Given the description of an element on the screen output the (x, y) to click on. 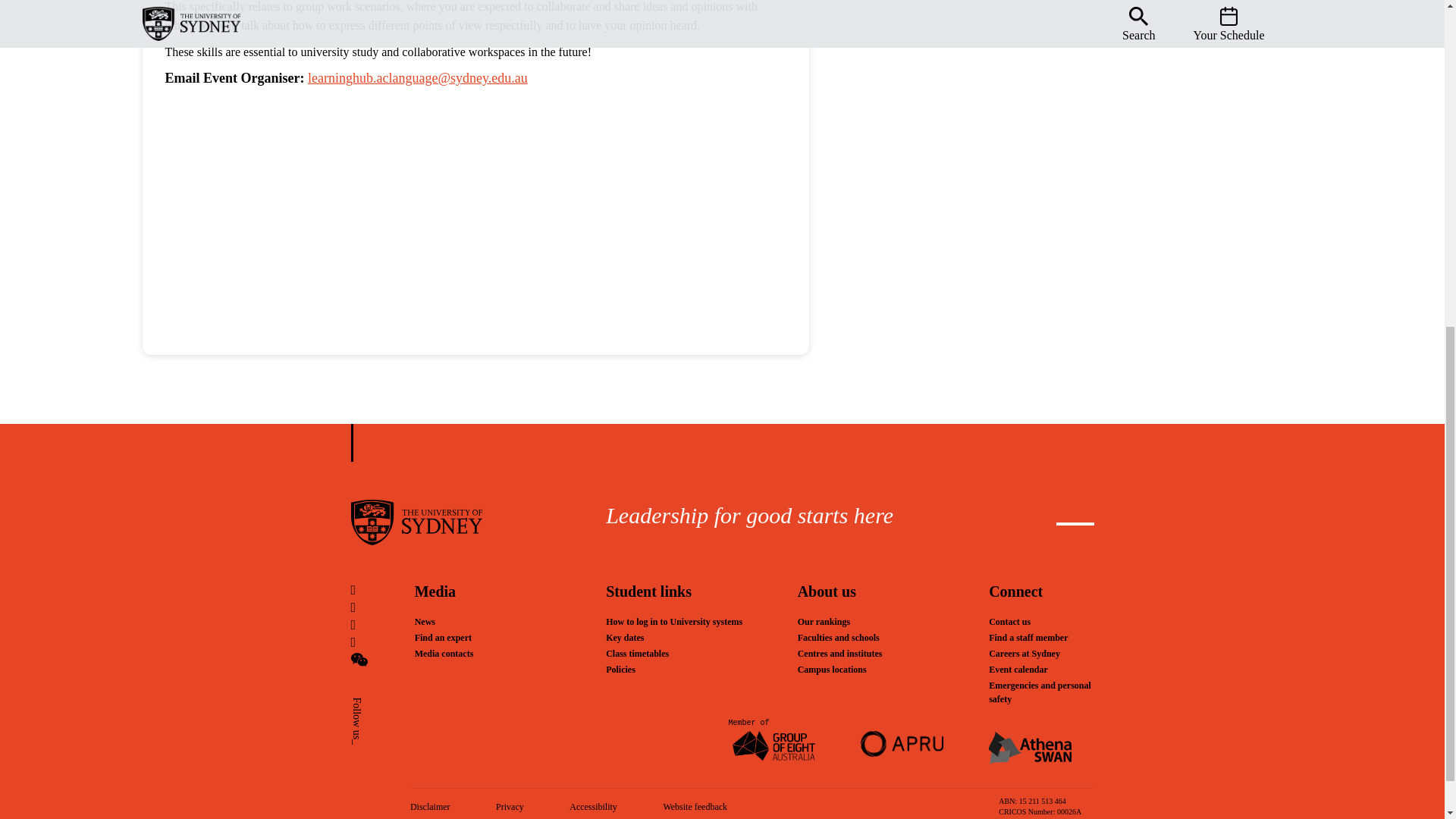
Class timetables (689, 653)
Campus locations (881, 669)
News (498, 621)
Find an expert (498, 637)
Member of (774, 747)
How to log in to University systems (689, 621)
Centres and institutes (881, 653)
Accessibility (593, 807)
Find a staff member (1040, 637)
Contact us (1040, 621)
